Given the description of an element on the screen output the (x, y) to click on. 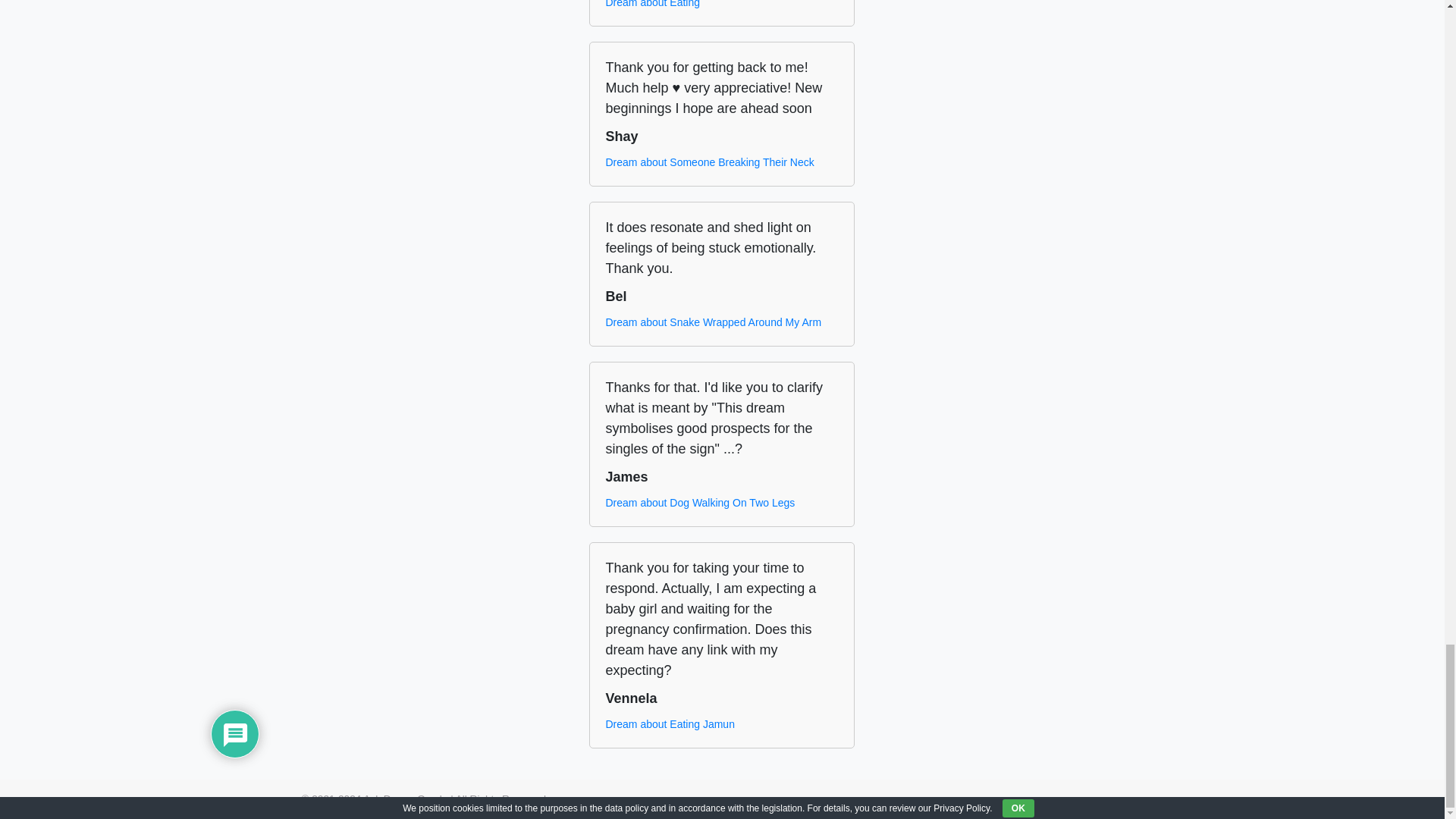
Dream about Eating (652, 5)
Dream about Dog Walking On Two Legs (699, 503)
Dream about Snake Wrapped Around My Arm (713, 322)
Dream about Eating Jamun (669, 724)
Dream about Someone Breaking Their Neck (709, 162)
Ask Dream Oracle (404, 798)
